Given the description of an element on the screen output the (x, y) to click on. 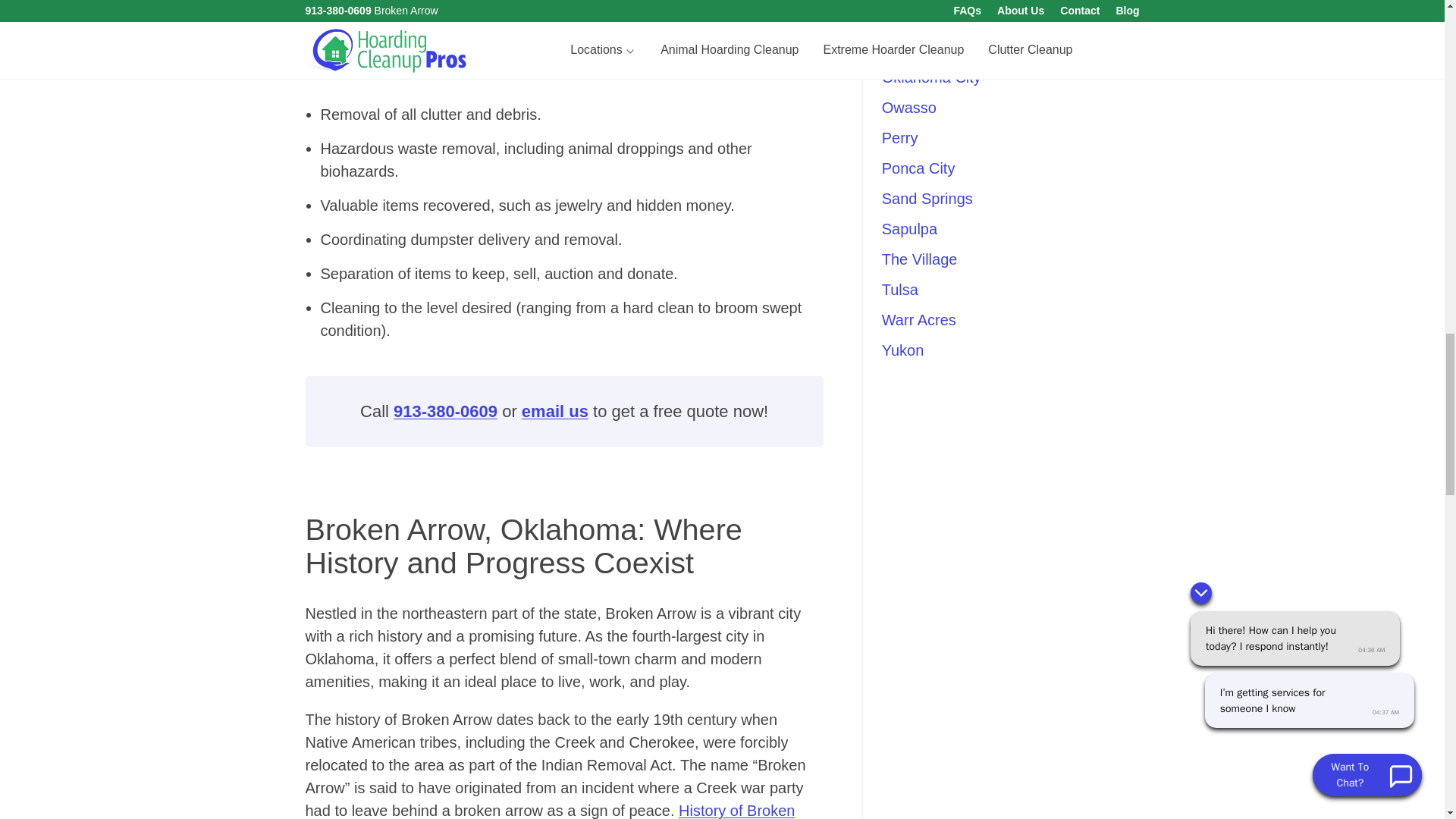
913-380-0609 (445, 411)
